Given the description of an element on the screen output the (x, y) to click on. 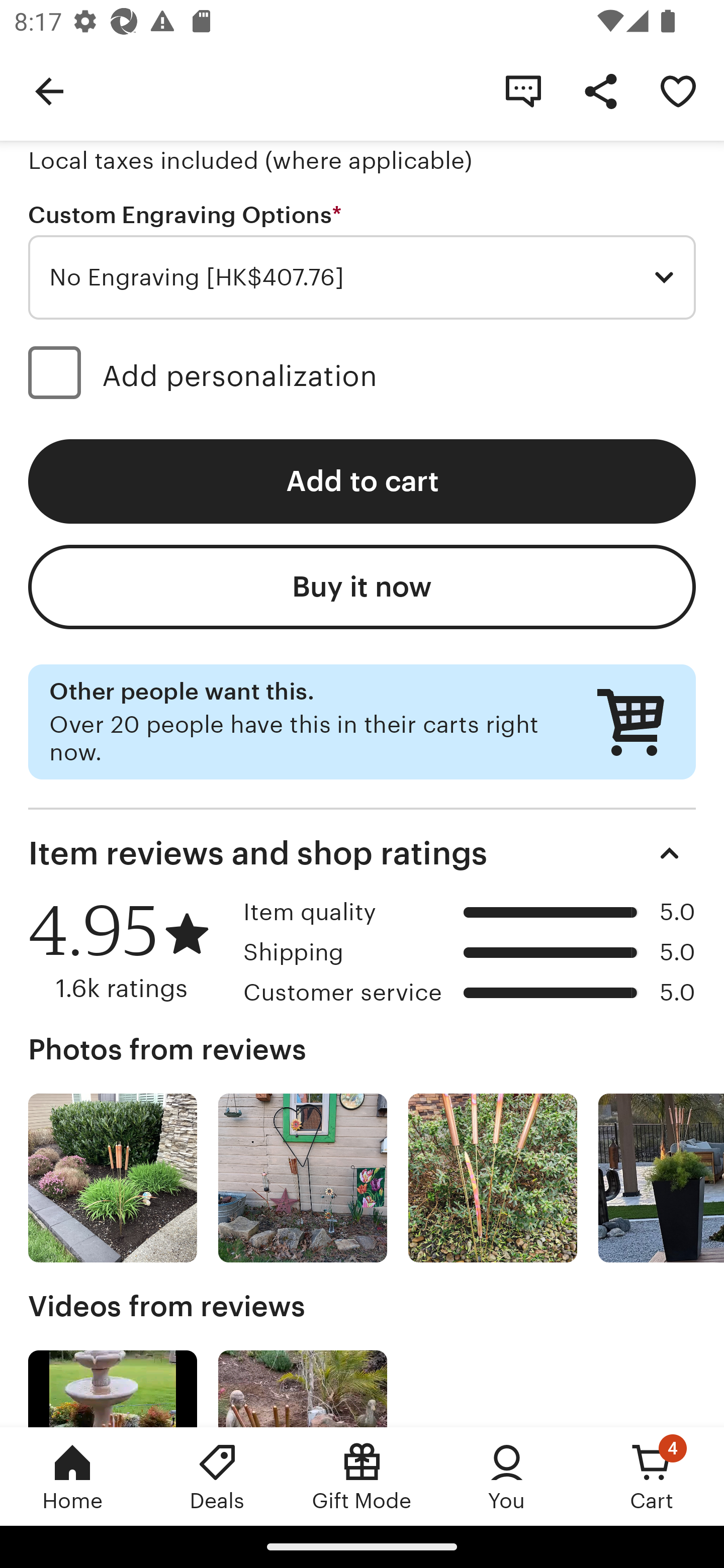
Navigate up (49, 90)
Contact shop (523, 90)
Share (600, 90)
No Engraving [HK$407.76] (361, 277)
Add personalization (optional) Add personalization (362, 375)
Add to cart (361, 481)
Buy it now (361, 586)
Item reviews and shop ratings (362, 852)
4.95 1.6k ratings (128, 949)
Photo from review (112, 1177)
Photo from review (302, 1177)
Photo from review (492, 1177)
Photo from review (661, 1177)
Deals (216, 1475)
Gift Mode (361, 1475)
You (506, 1475)
Cart, 4 new notifications Cart (651, 1475)
